Given the description of an element on the screen output the (x, y) to click on. 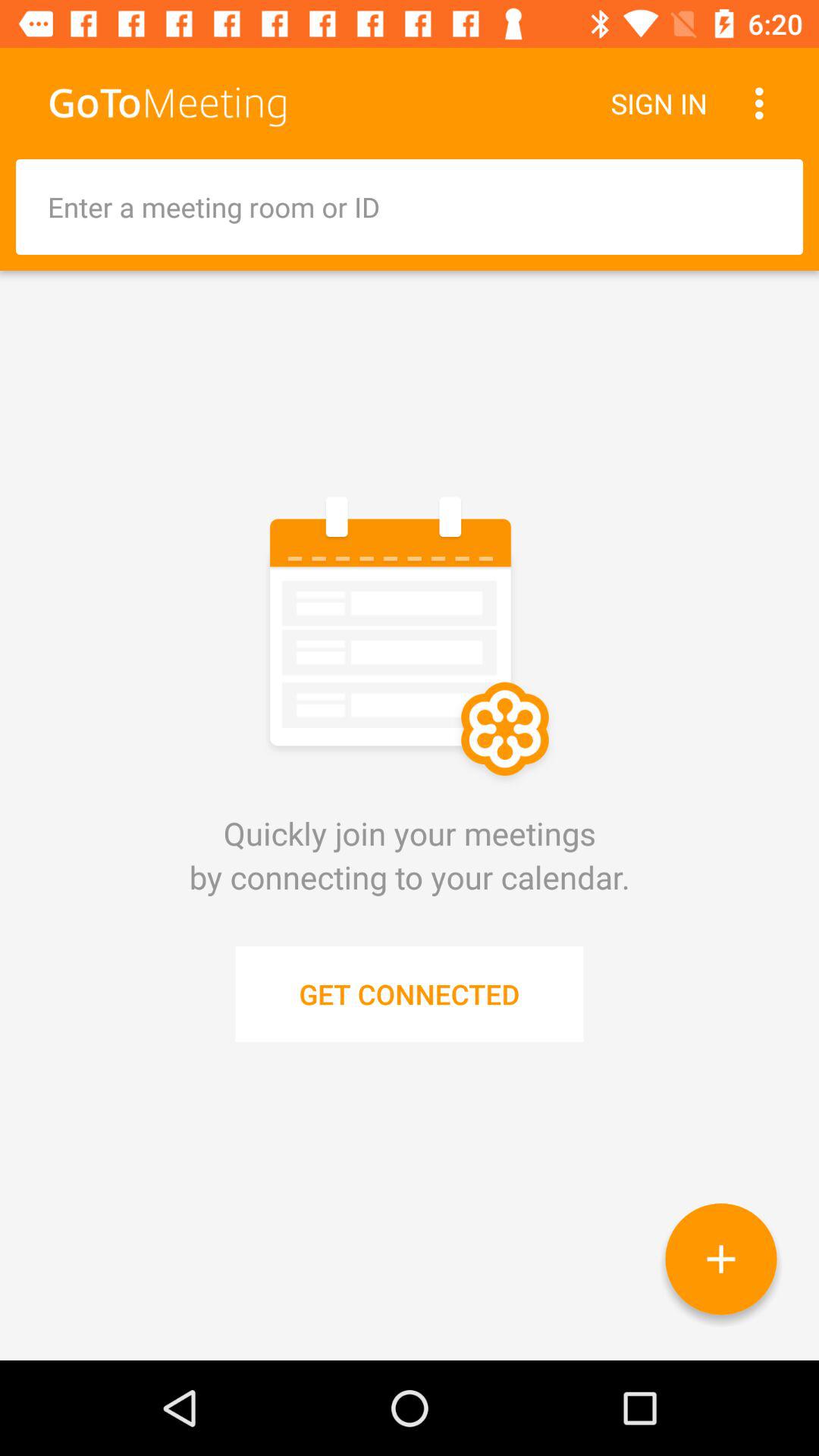
launch the item next to the sign in (763, 103)
